Given the description of an element on the screen output the (x, y) to click on. 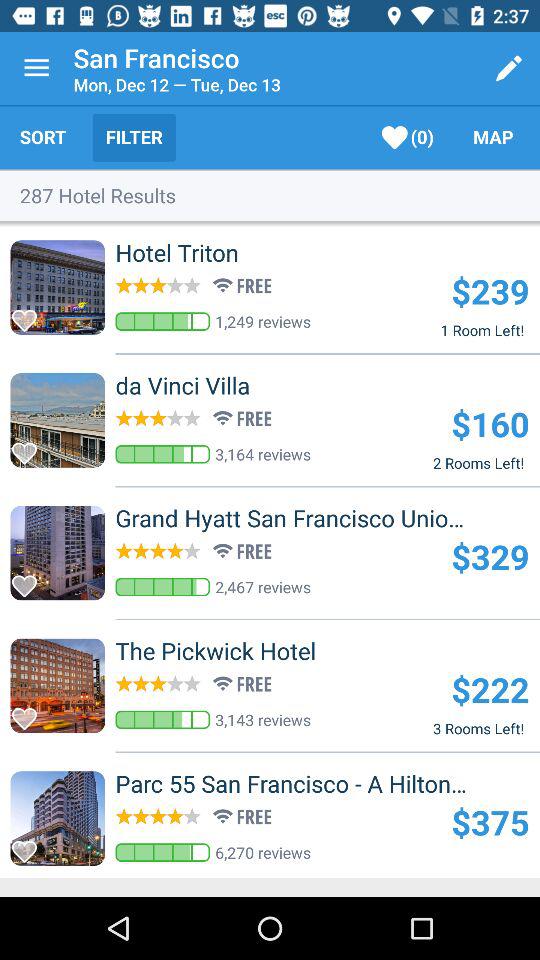
choose item to the left of the san francisco (36, 68)
